Given the description of an element on the screen output the (x, y) to click on. 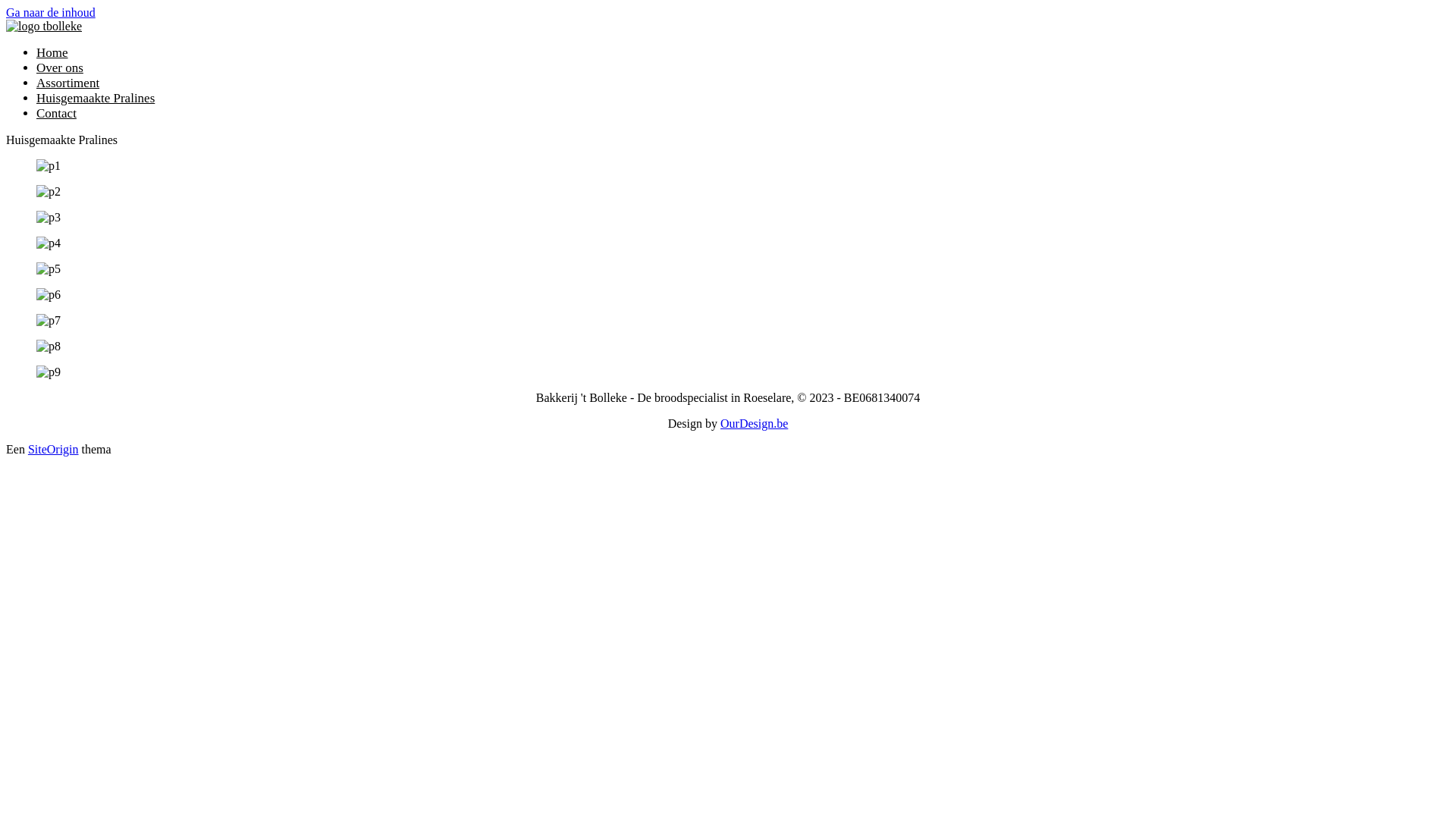
Home Element type: text (52, 52)
Ga naar de inhoud Element type: text (50, 12)
Huisgemaakte Pralines Element type: text (95, 97)
Over ons Element type: text (59, 67)
OurDesign.be Element type: text (753, 423)
Assortiment Element type: text (67, 82)
Contact Element type: text (56, 112)
SiteOrigin Element type: text (53, 448)
